Given the description of an element on the screen output the (x, y) to click on. 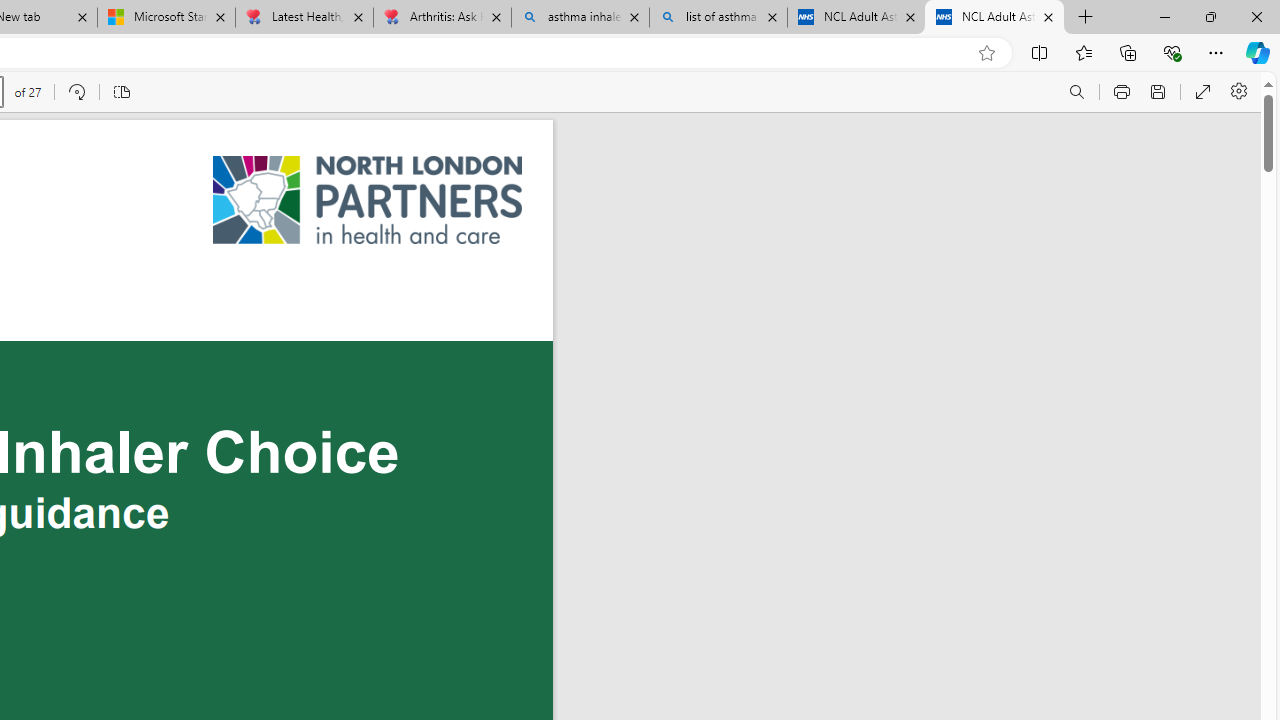
Unlabeled graphic (367, 200)
Enter PDF full screen (1203, 92)
Save (Ctrl+S) (1158, 92)
Print (Ctrl+P) (1121, 92)
